Given the description of an element on the screen output the (x, y) to click on. 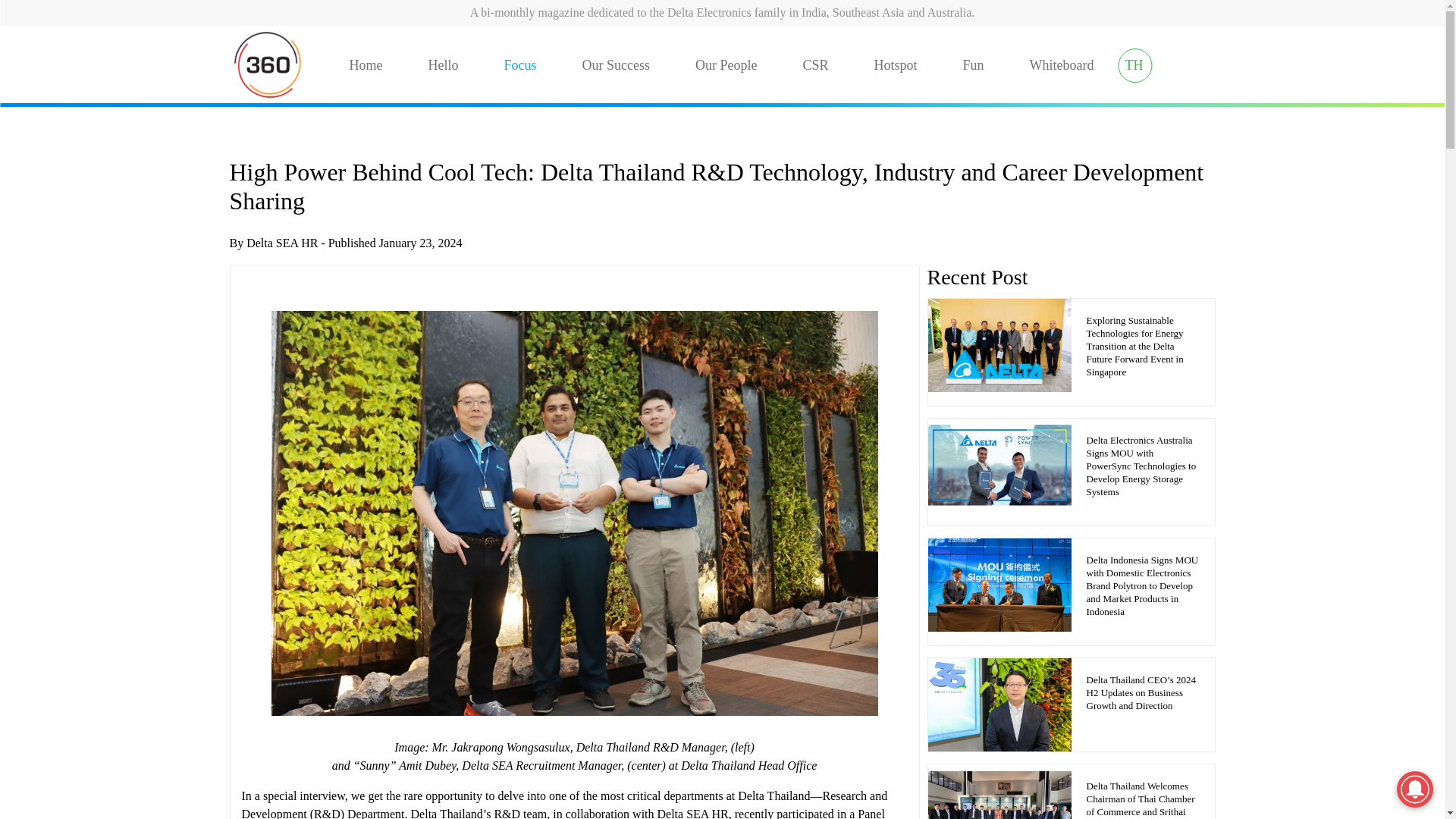
Focus (519, 65)
Whiteboard (1061, 65)
Our People (726, 65)
Home (365, 65)
CSR (815, 65)
Hello (443, 65)
TH (1133, 64)
Our Success (615, 65)
Fun (973, 65)
Hotspot (896, 65)
